Given the description of an element on the screen output the (x, y) to click on. 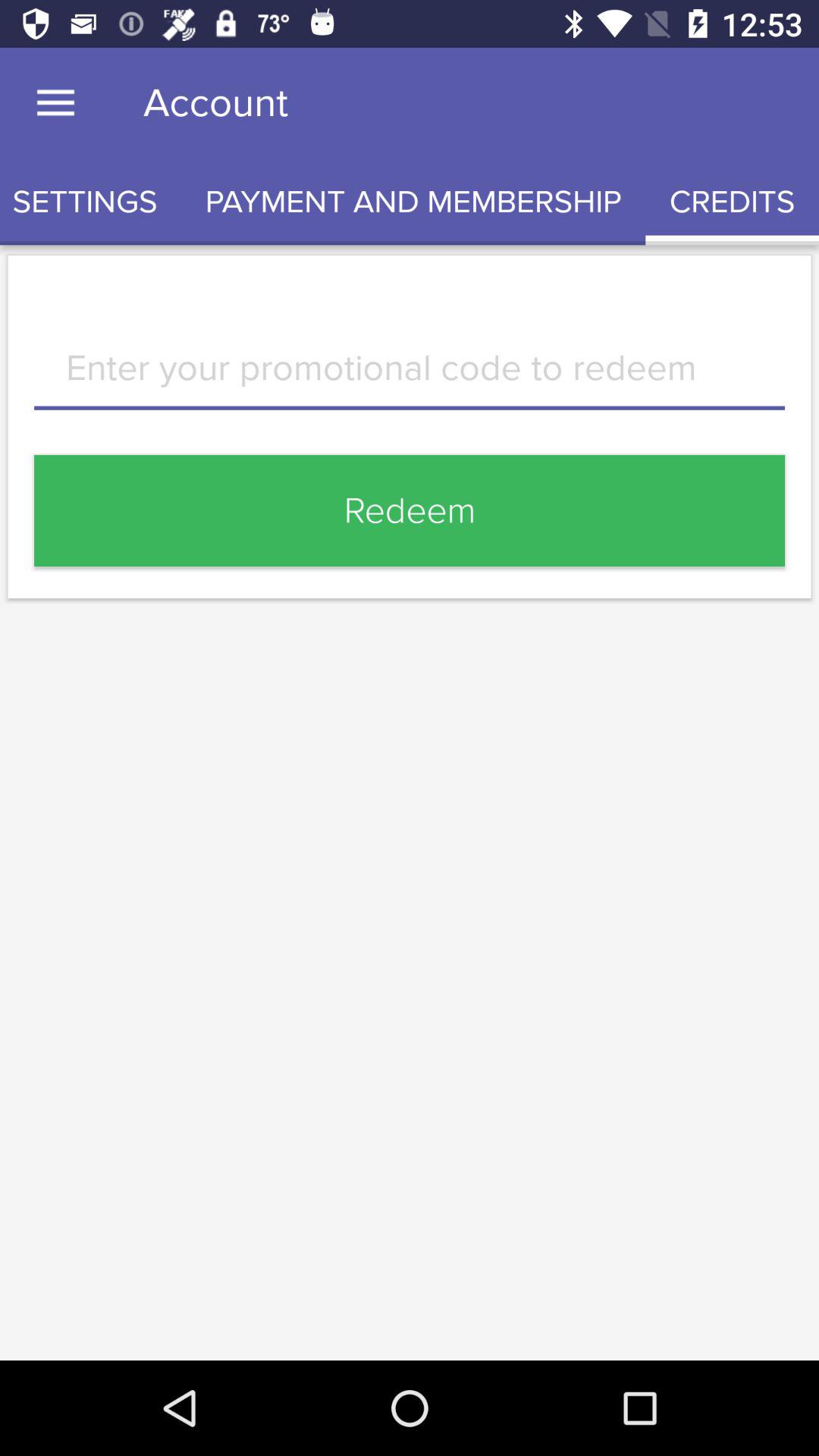
select credits (732, 202)
